Given the description of an element on the screen output the (x, y) to click on. 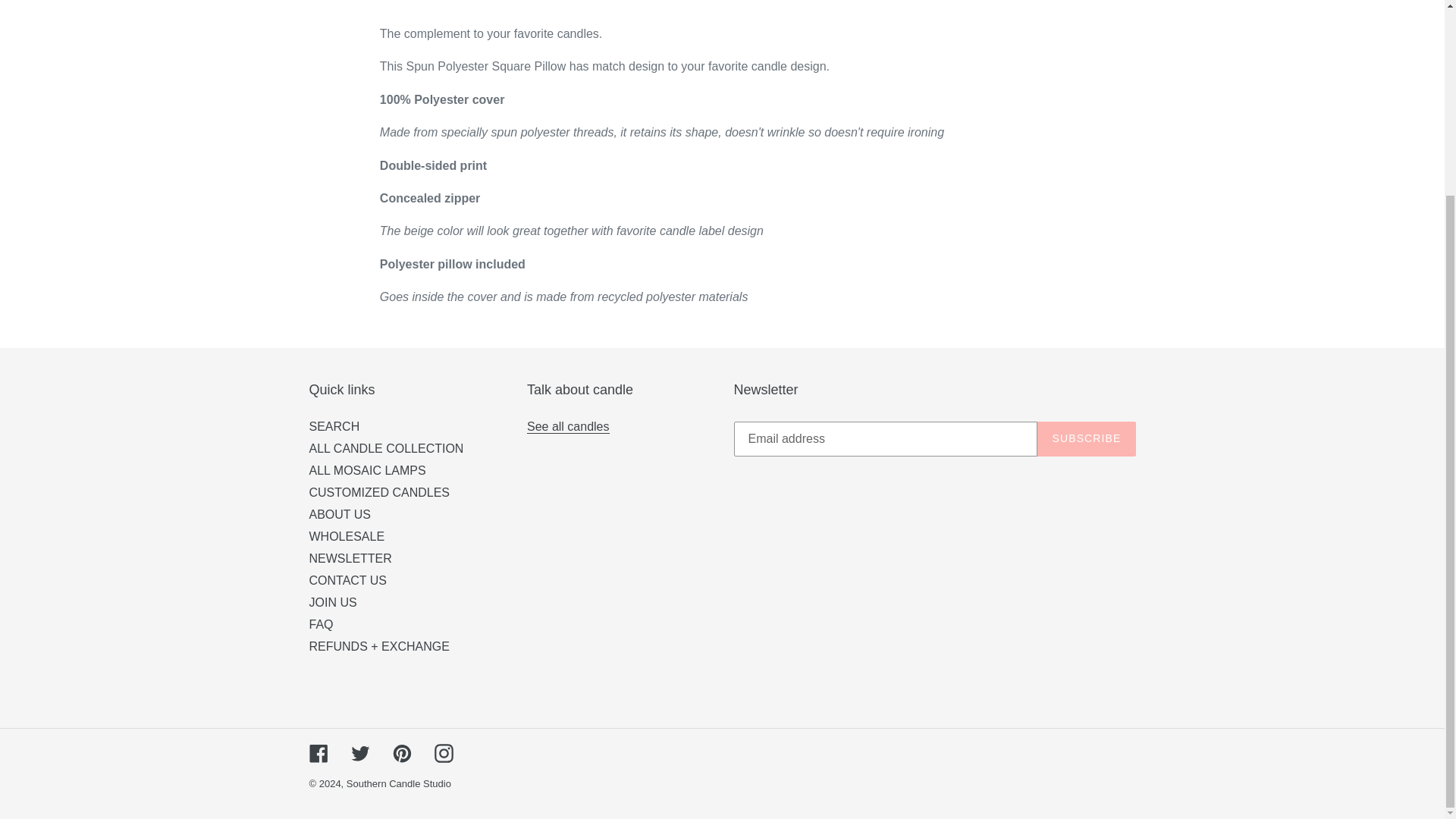
All Candle Collection (568, 427)
